Given the description of an element on the screen output the (x, y) to click on. 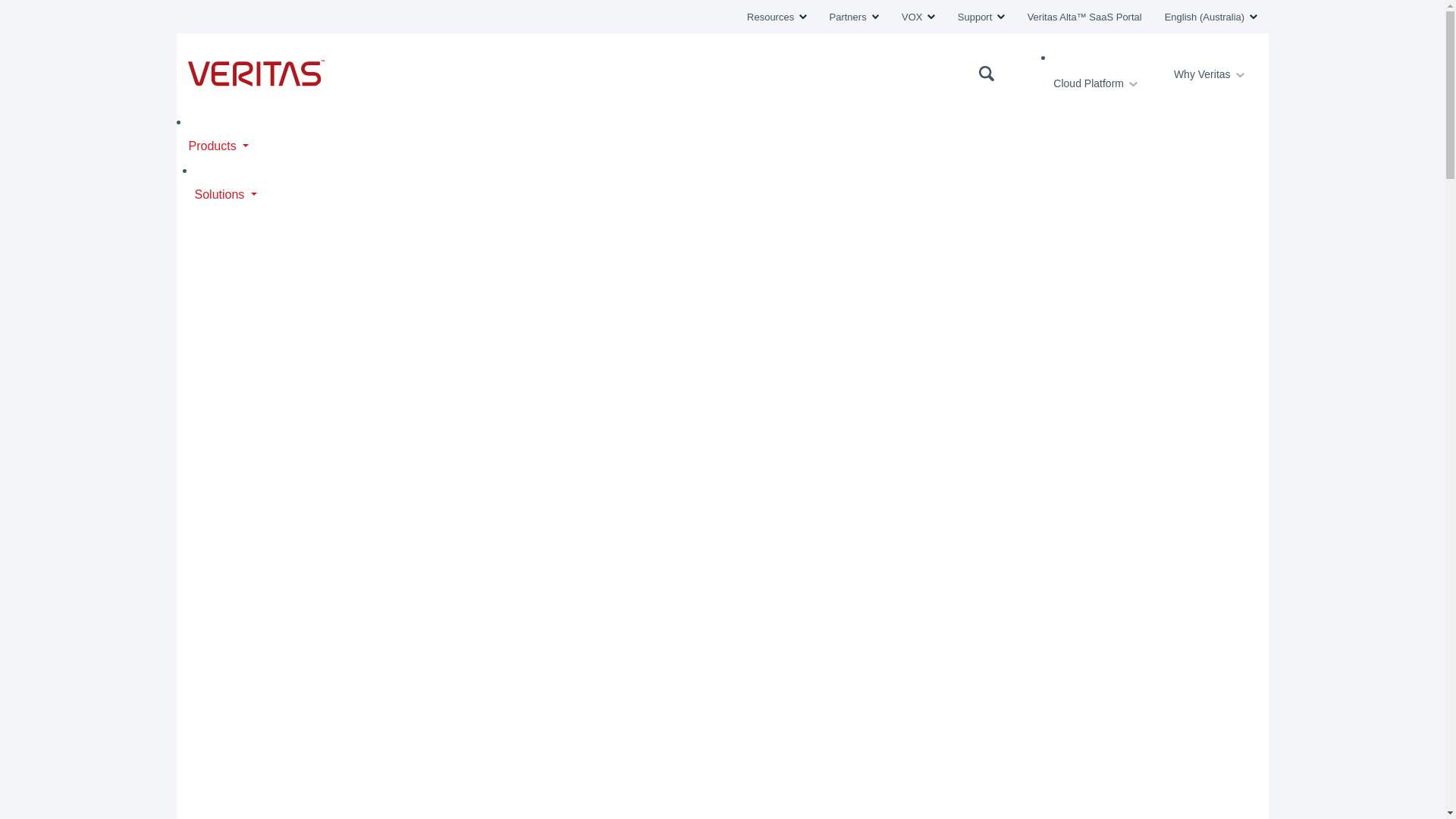
Support (981, 16)
Resources (776, 16)
Partners (854, 16)
VOX (917, 16)
